Given the description of an element on the screen output the (x, y) to click on. 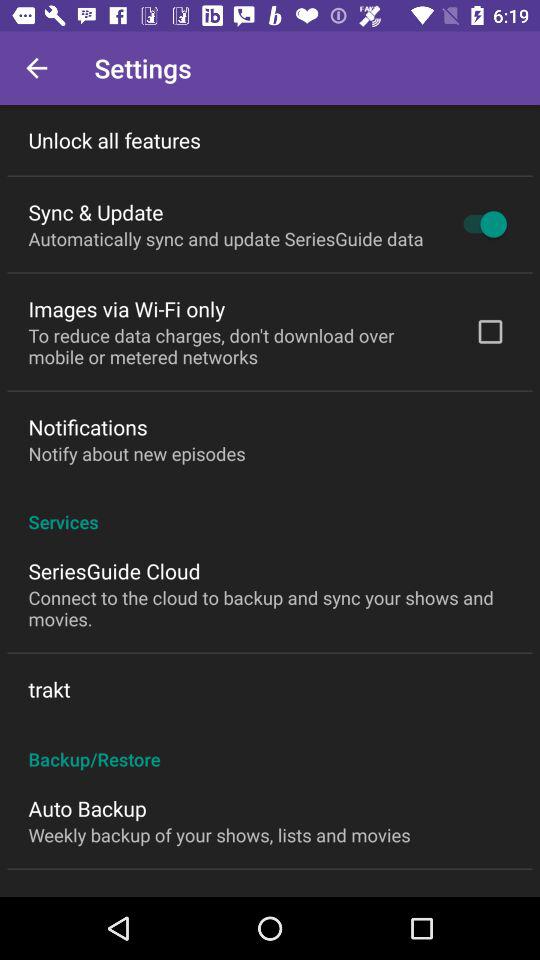
select item next to the automatically sync and item (480, 224)
